Given the description of an element on the screen output the (x, y) to click on. 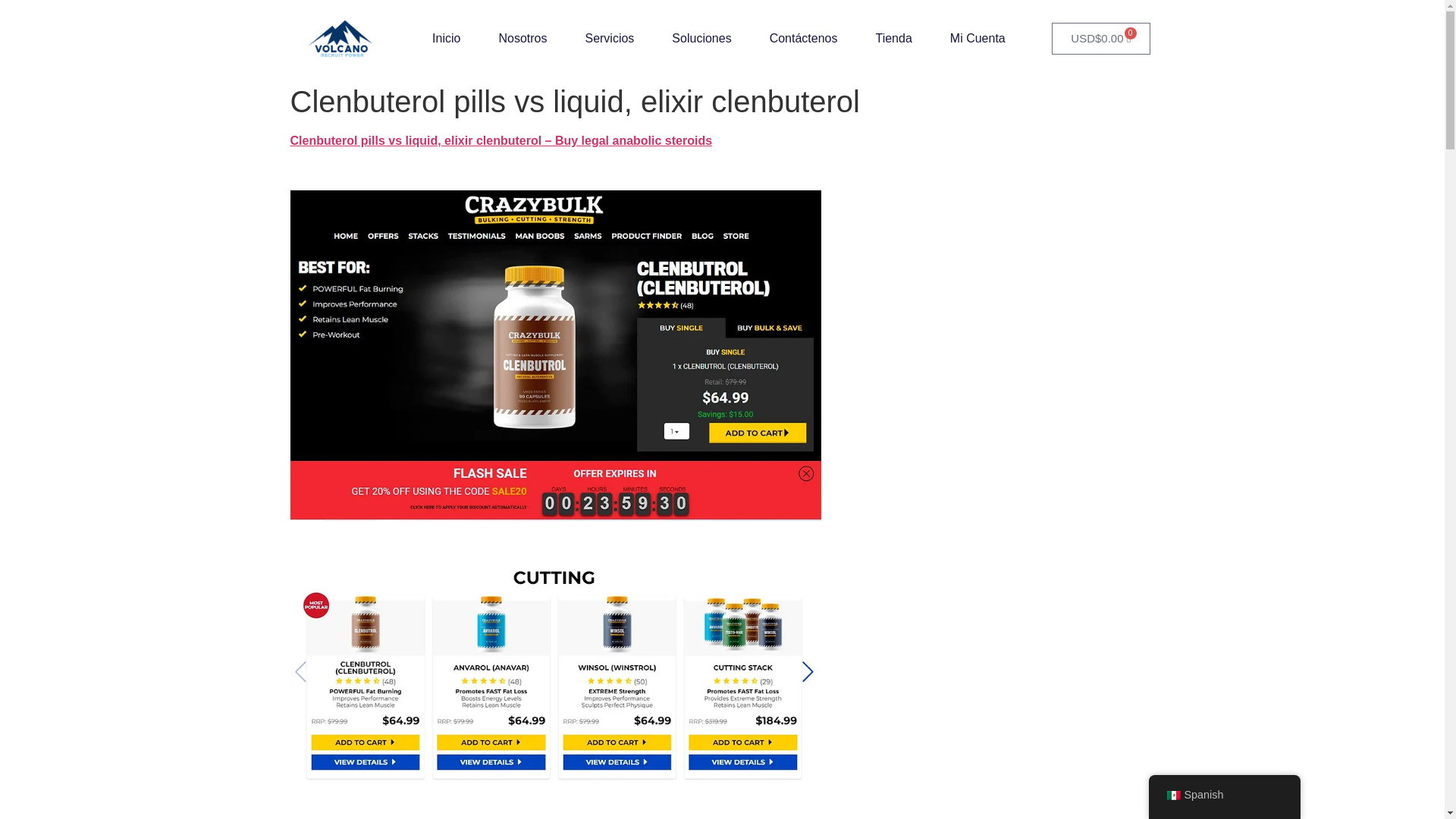
Spanish (1224, 795)
pills clenbuterol liquid vs (555, 674)
Mi Cuenta (978, 38)
Tienda (893, 38)
Spanish (1172, 795)
Nosotros (522, 38)
Servicios (609, 38)
Soluciones (700, 38)
